Given the description of an element on the screen output the (x, y) to click on. 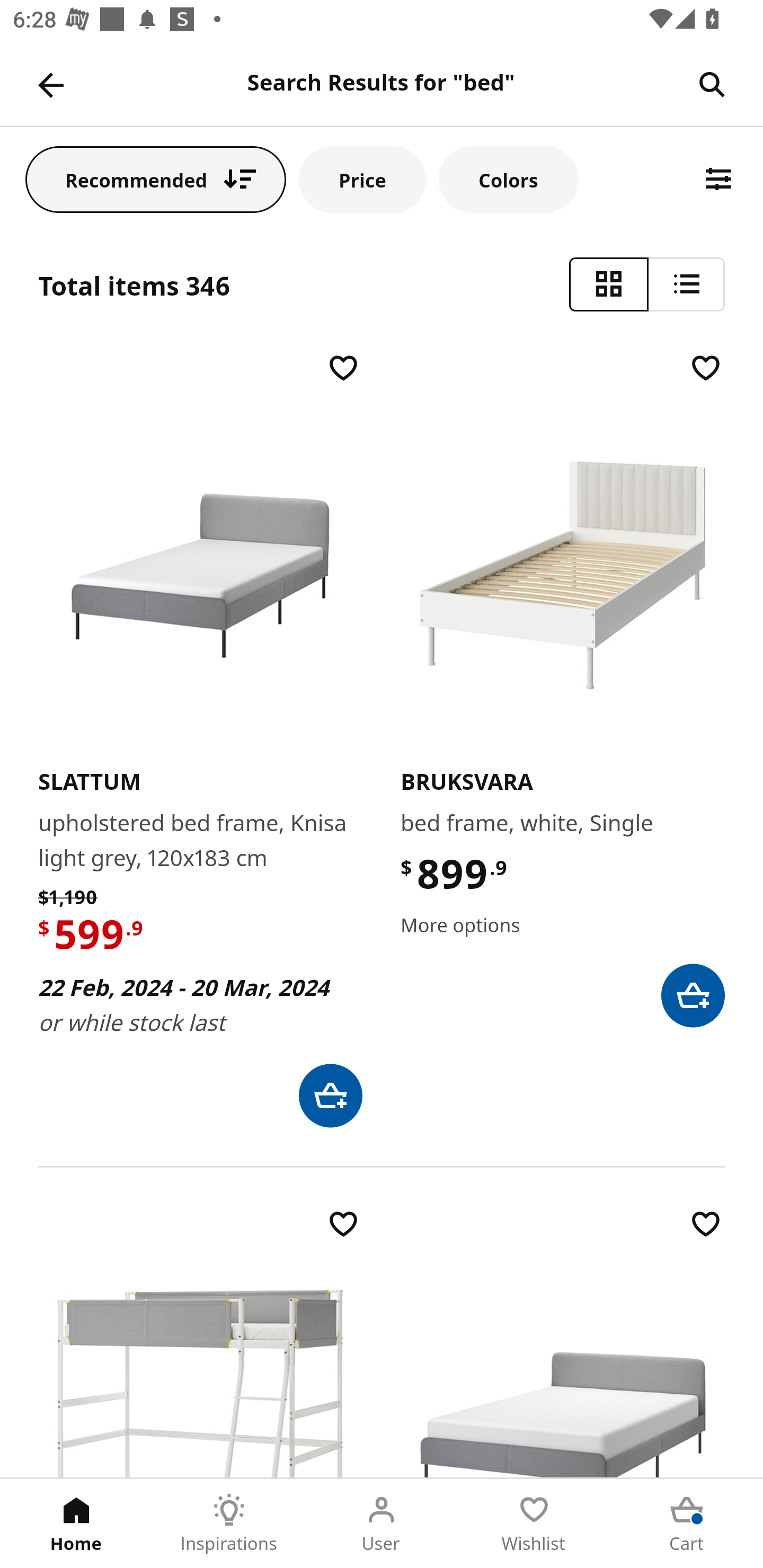
Recommended (155, 179)
Price (362, 179)
Colors (508, 179)
Home
Tab 1 of 5 (76, 1522)
Inspirations
Tab 2 of 5 (228, 1522)
User
Tab 3 of 5 (381, 1522)
Wishlist
Tab 4 of 5 (533, 1522)
Cart
Tab 5 of 5 (686, 1522)
